Given the description of an element on the screen output the (x, y) to click on. 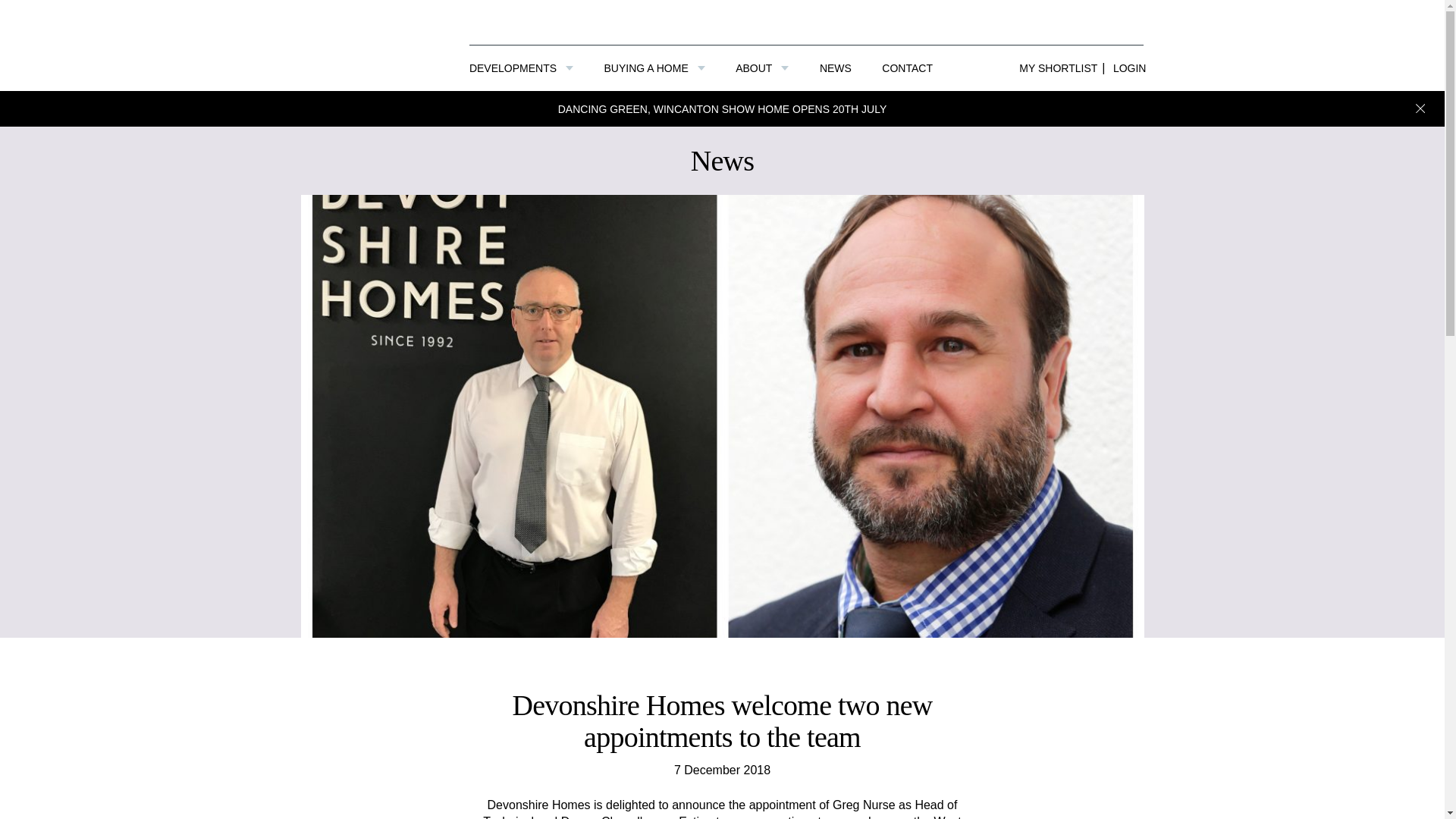
DEVELOPMENTS (520, 67)
Developments (520, 67)
BUYING A HOME (654, 67)
Buying a home (654, 67)
Login (1132, 67)
NEWS (835, 67)
LOGIN (1132, 67)
My shortlist (1054, 67)
CONTACT (906, 67)
About (761, 67)
Devonshire Homes (370, 45)
ABOUT (761, 67)
MY SHORTLIST (1054, 67)
